Given the description of an element on the screen output the (x, y) to click on. 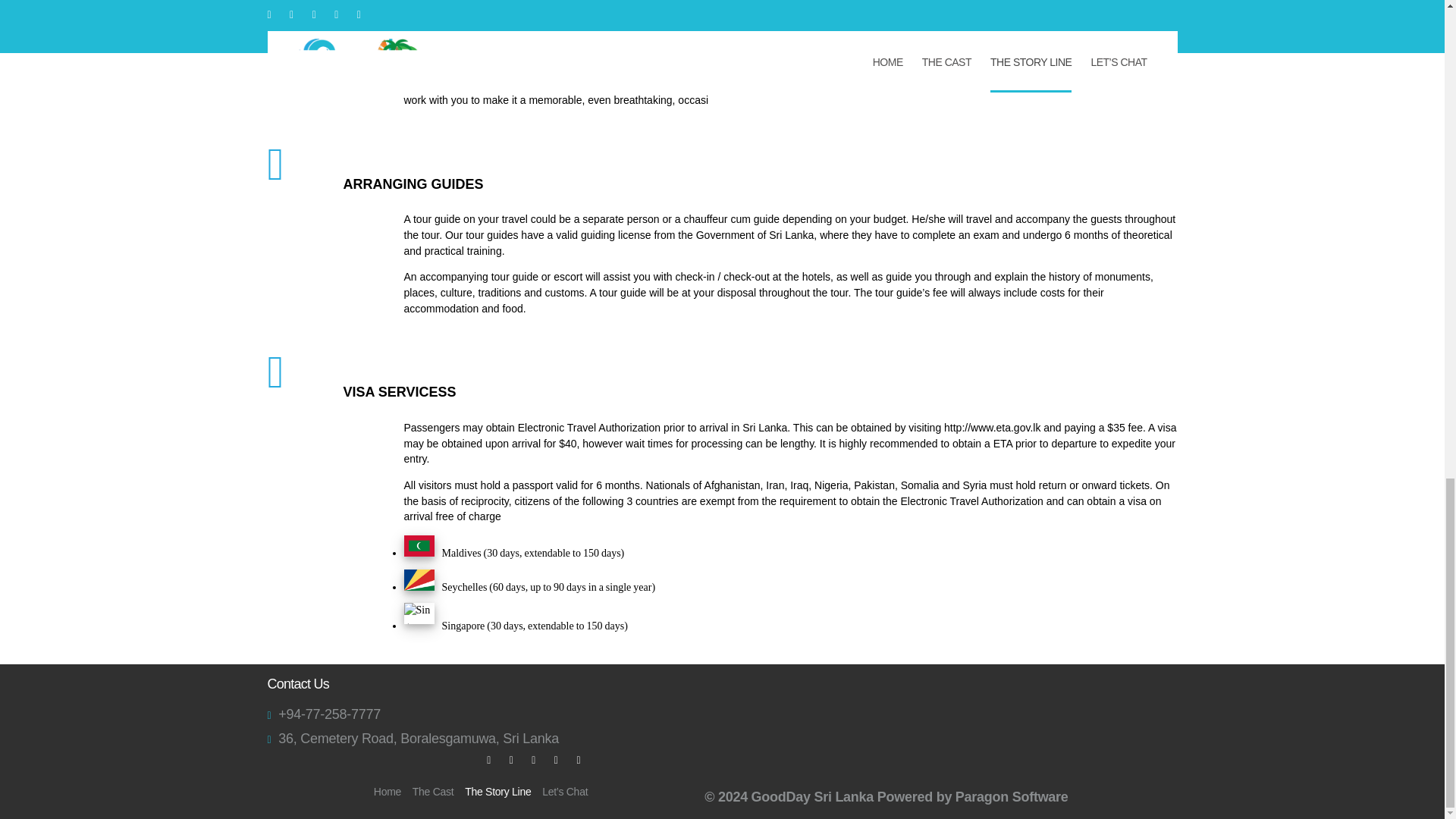
Home (387, 791)
The Story Line (497, 794)
GoodDay Sri Lanka (812, 796)
The Cast (433, 791)
Powered by Paragon Software (972, 796)
